Given the description of an element on the screen output the (x, y) to click on. 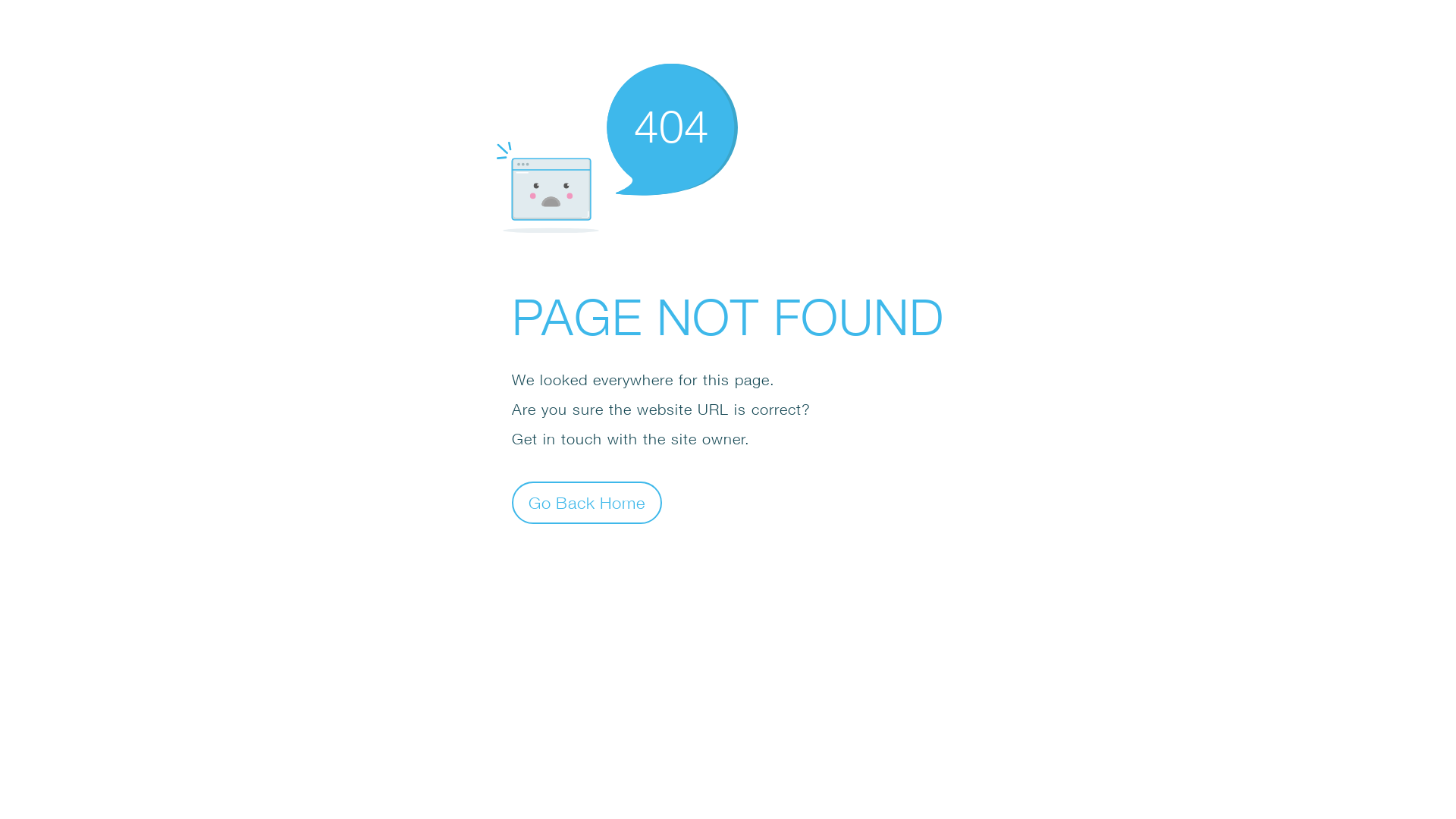
Go Back Home Element type: text (586, 502)
